Given the description of an element on the screen output the (x, y) to click on. 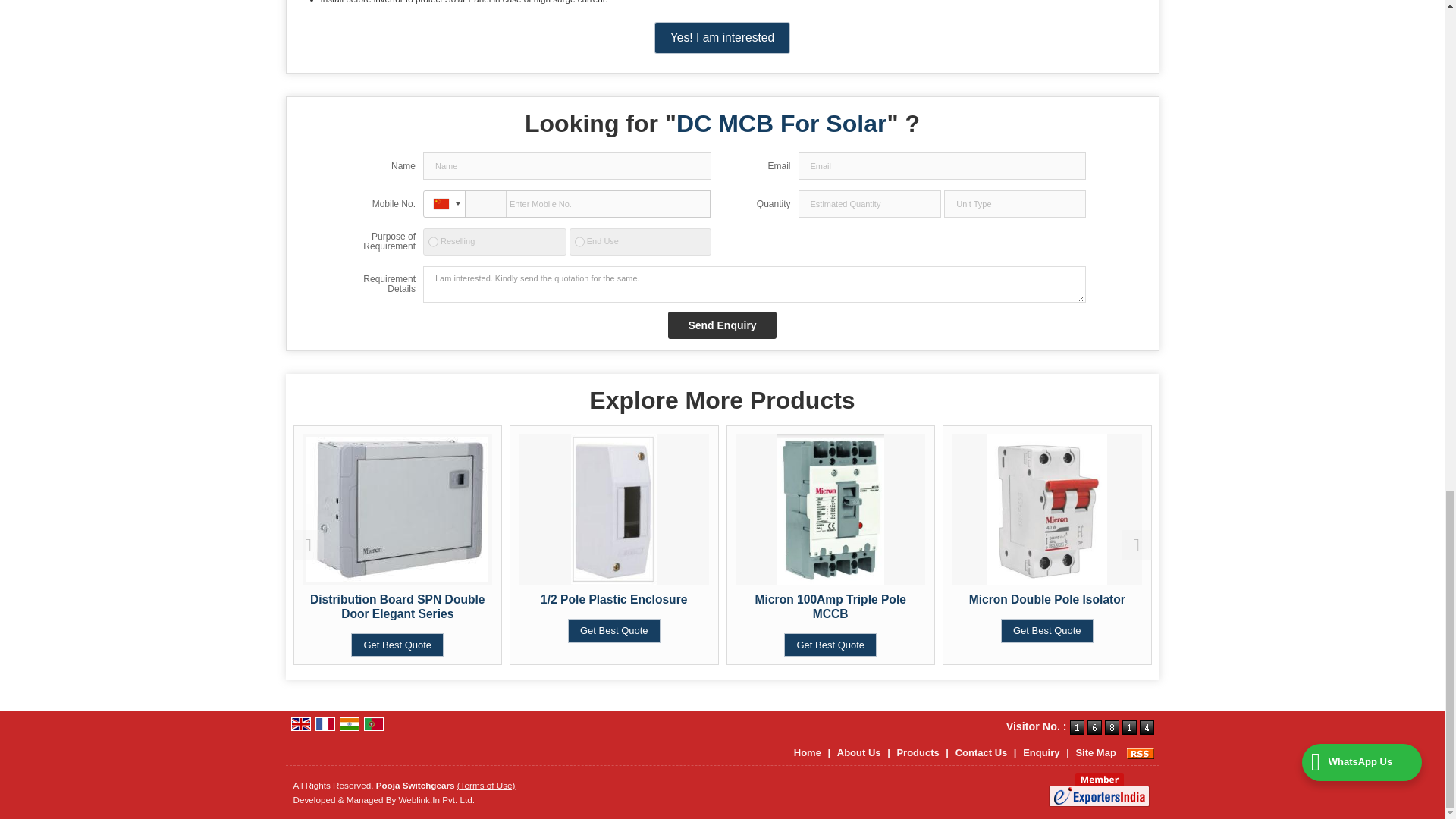
Send Enquiry (722, 325)
Reselling (433, 241)
End Use (580, 241)
